Given the description of an element on the screen output the (x, y) to click on. 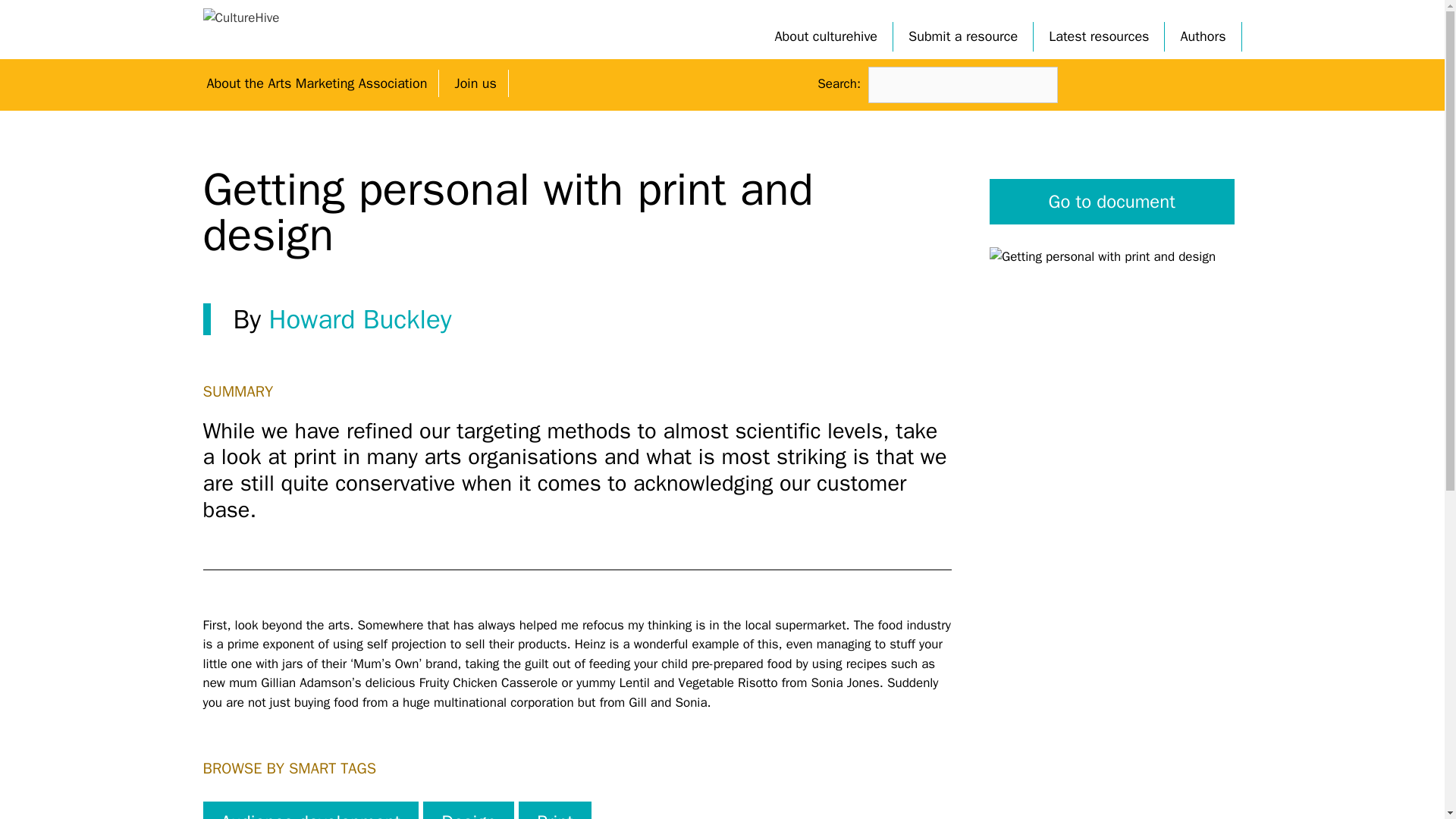
About culturehive (826, 36)
About the Arts Marketing Association (317, 83)
Print (554, 810)
Latest resources (1098, 36)
CultureHive (241, 17)
CultureHive (241, 17)
Go to document (1112, 201)
Design (468, 810)
Audience development (311, 810)
Authors (1202, 36)
